Given the description of an element on the screen output the (x, y) to click on. 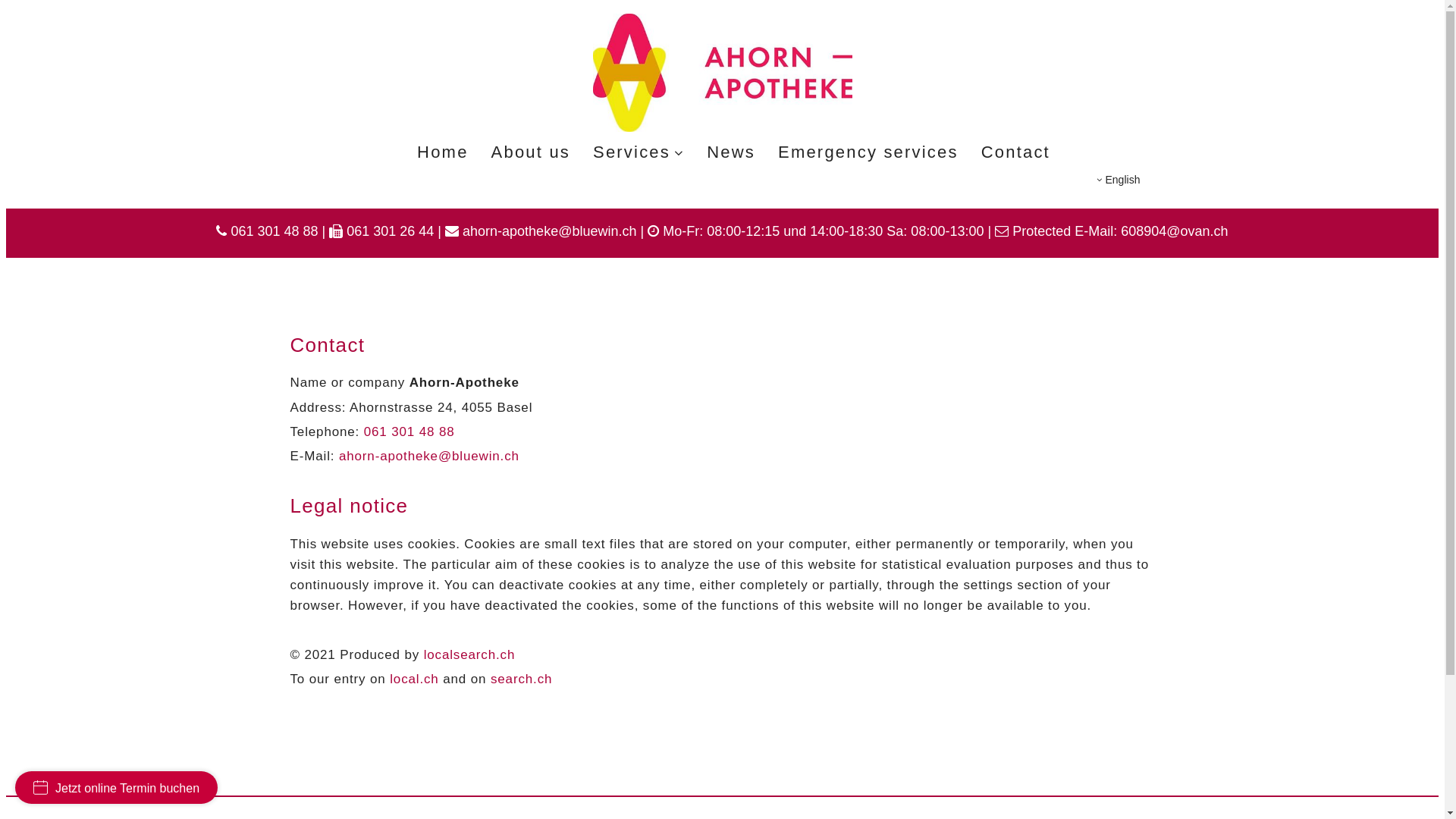
Services Element type: text (638, 152)
Contact Element type: text (1015, 152)
061 301 48 88 Element type: text (273, 230)
Home Element type: text (442, 152)
English Element type: text (1118, 179)
ahorn-apotheke@bluewin.ch Element type: text (549, 230)
608904@ovan.ch Element type: text (1173, 230)
Jetzt online Termin buchen Element type: text (116, 787)
061 301 48 88 Element type: text (409, 431)
ahorn-apotheke@bluewin.ch Element type: text (428, 455)
search.ch Element type: text (521, 678)
local.ch Element type: text (413, 678)
Emergency services Element type: text (868, 152)
About us Element type: text (530, 152)
News Element type: text (730, 152)
localsearch.ch Element type: text (469, 654)
